Given the description of an element on the screen output the (x, y) to click on. 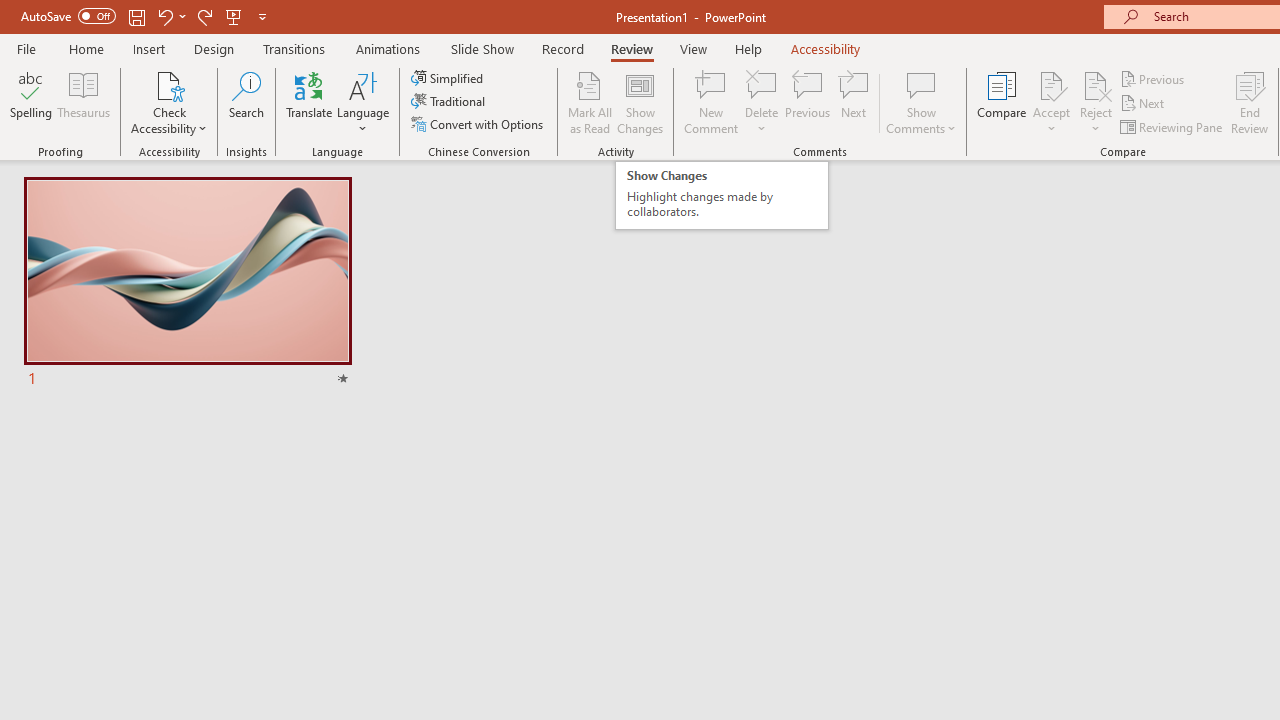
Traditional (449, 101)
Reject (1096, 102)
Reviewing Pane (1172, 126)
End Review (1249, 102)
Show Changes (639, 102)
